Given the description of an element on the screen output the (x, y) to click on. 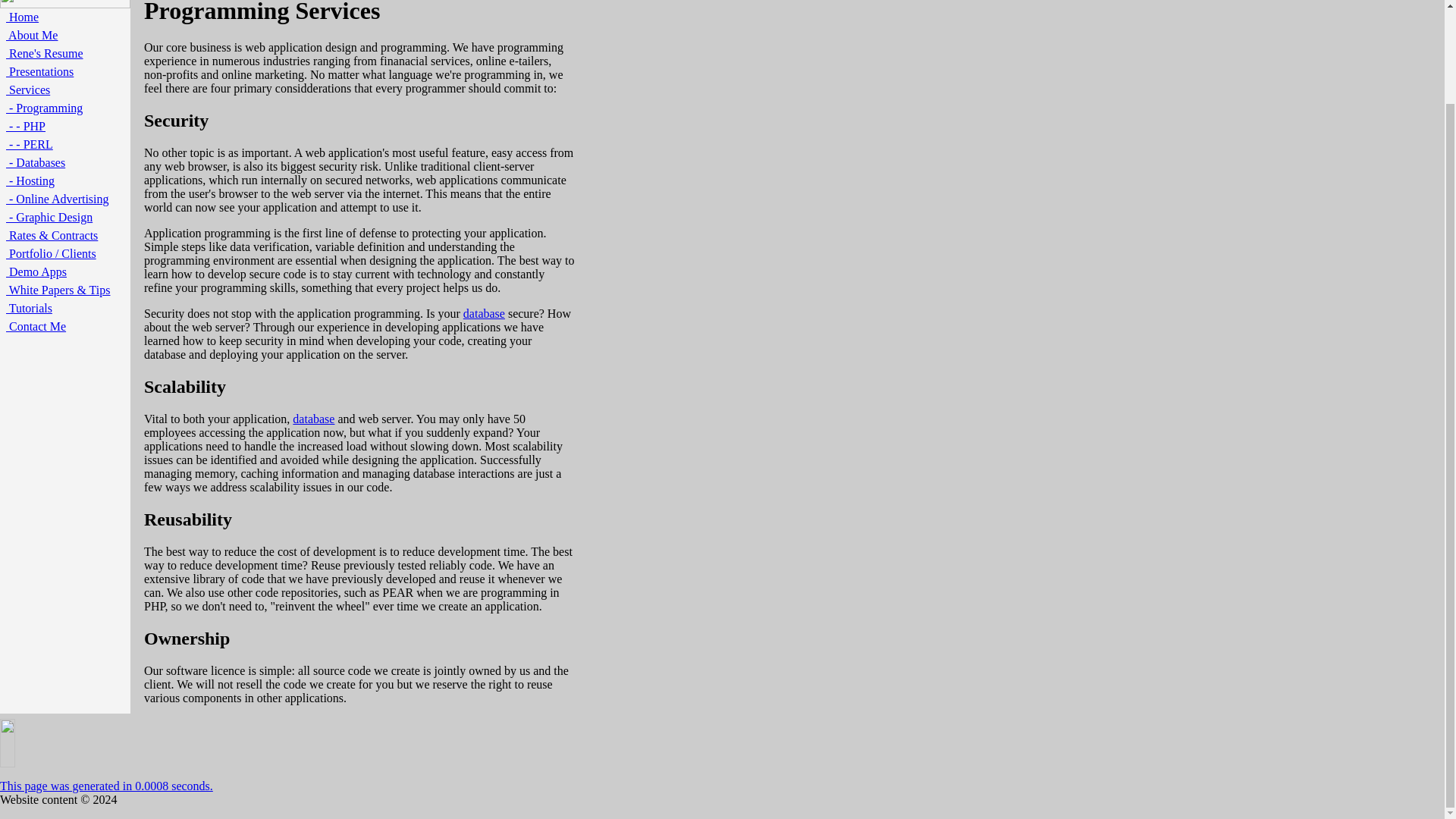
- Databases (35, 162)
Contact Me (35, 326)
- Programming (43, 107)
About Me (31, 34)
- - PERL (28, 144)
Demo Apps (35, 271)
Rene's Resume (43, 52)
- - PHP (25, 125)
database (313, 418)
- Hosting (30, 180)
database (484, 313)
Tutorials (28, 308)
- Online Advertising (57, 198)
Home (22, 16)
This page was generated in 0.0008 seconds. (106, 785)
